Given the description of an element on the screen output the (x, y) to click on. 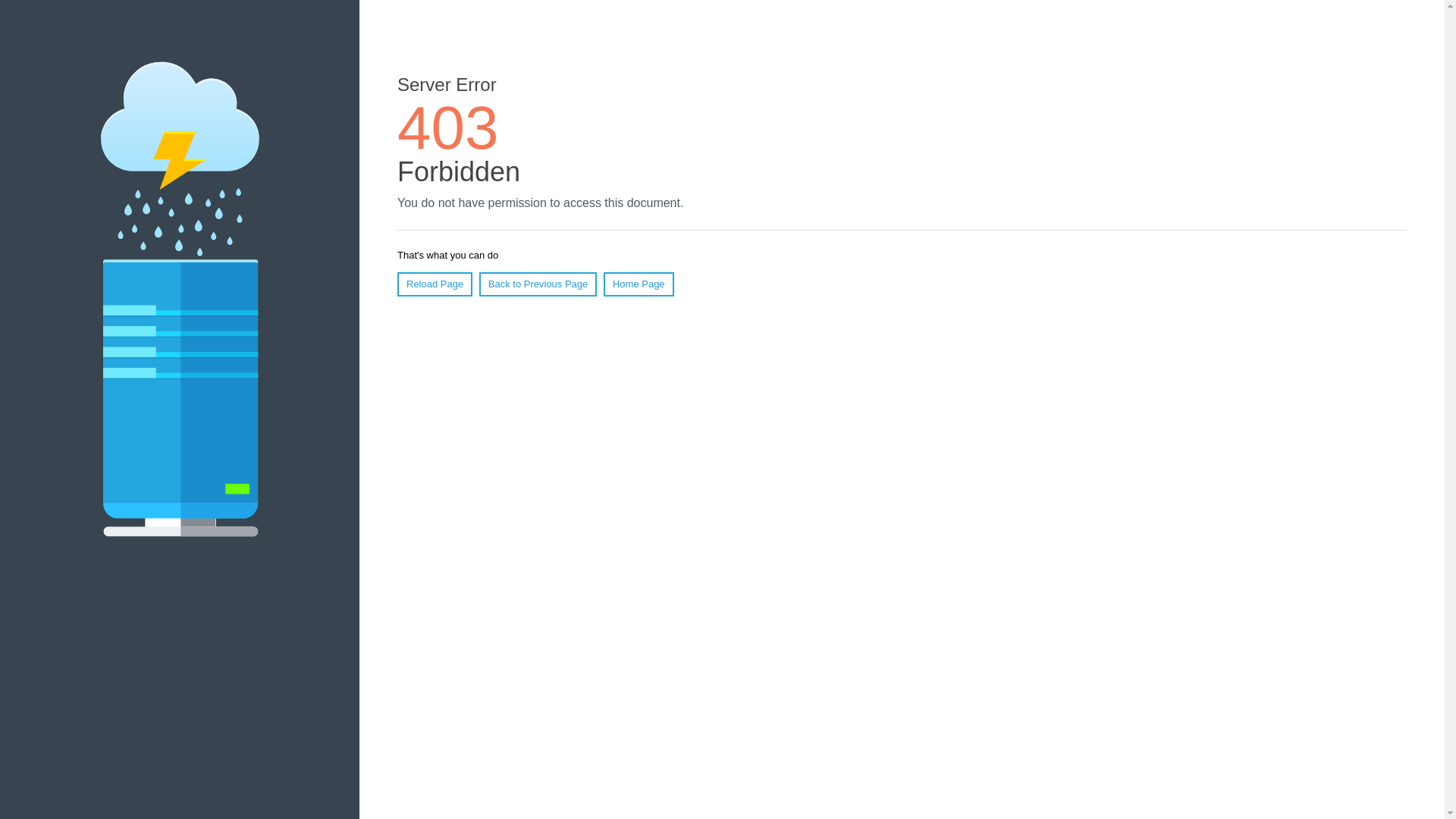
Reload Page Element type: text (434, 284)
Home Page Element type: text (638, 284)
Back to Previous Page Element type: text (538, 284)
